Given the description of an element on the screen output the (x, y) to click on. 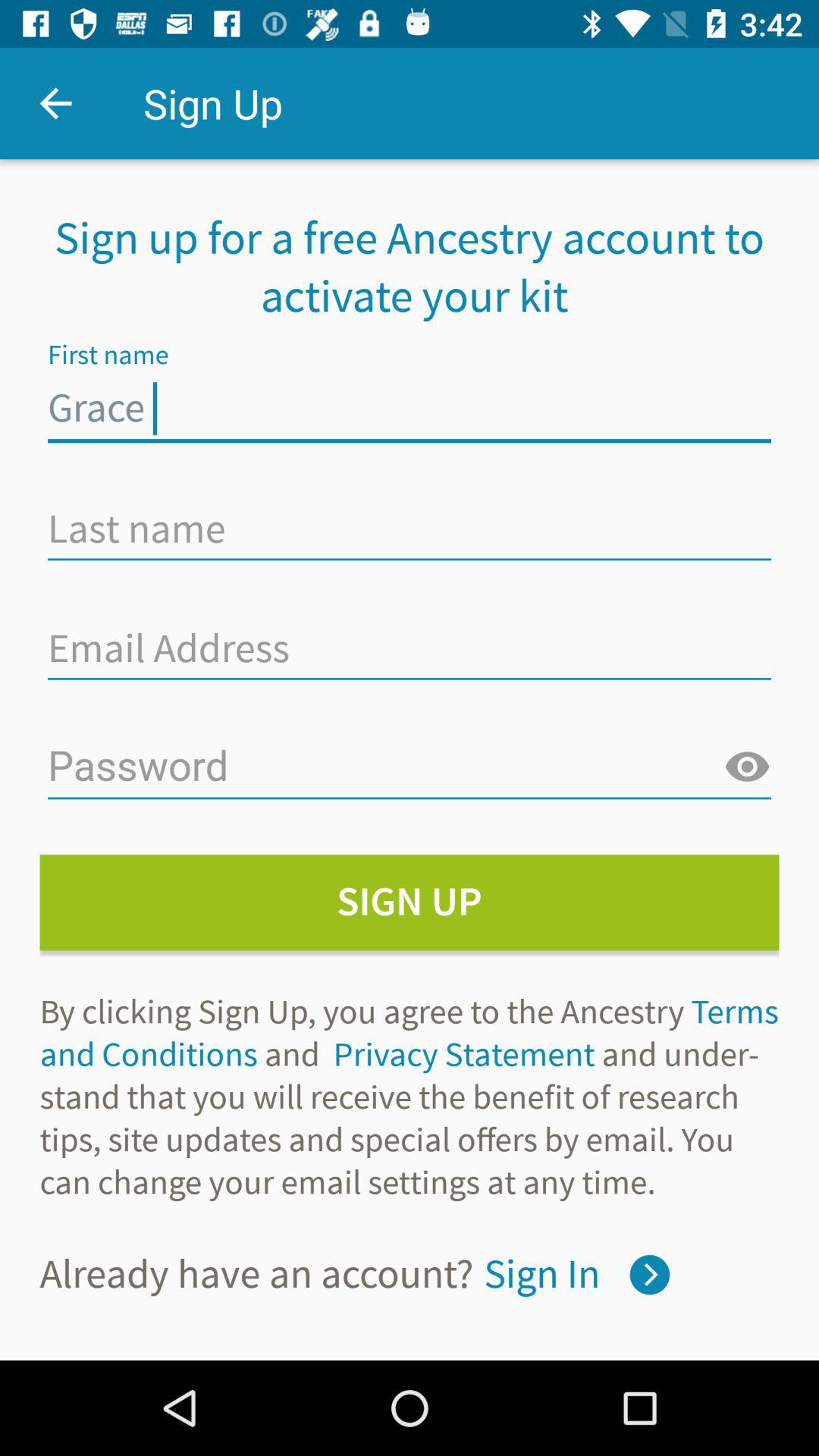
view password (747, 767)
